Given the description of an element on the screen output the (x, y) to click on. 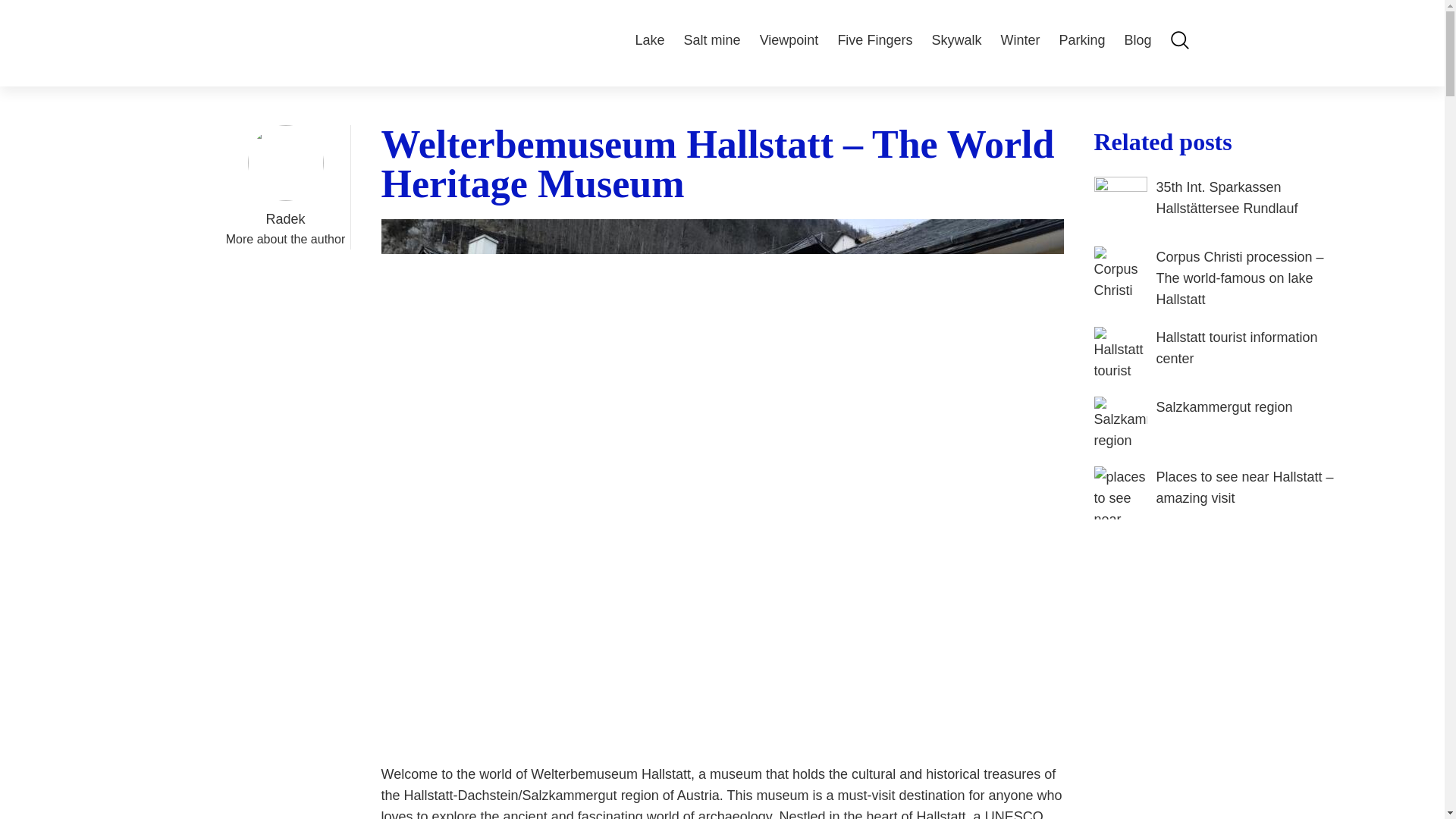
Viewpoint (789, 39)
Lake (649, 39)
Salzkammergut region (1214, 422)
Skywalk (956, 39)
Winter (1019, 39)
Hallstatt tourist information center (1214, 353)
More about the author (285, 238)
Blog (1137, 39)
Salt mine (712, 39)
Five Fingers (874, 39)
Parking (1081, 39)
